Given the description of an element on the screen output the (x, y) to click on. 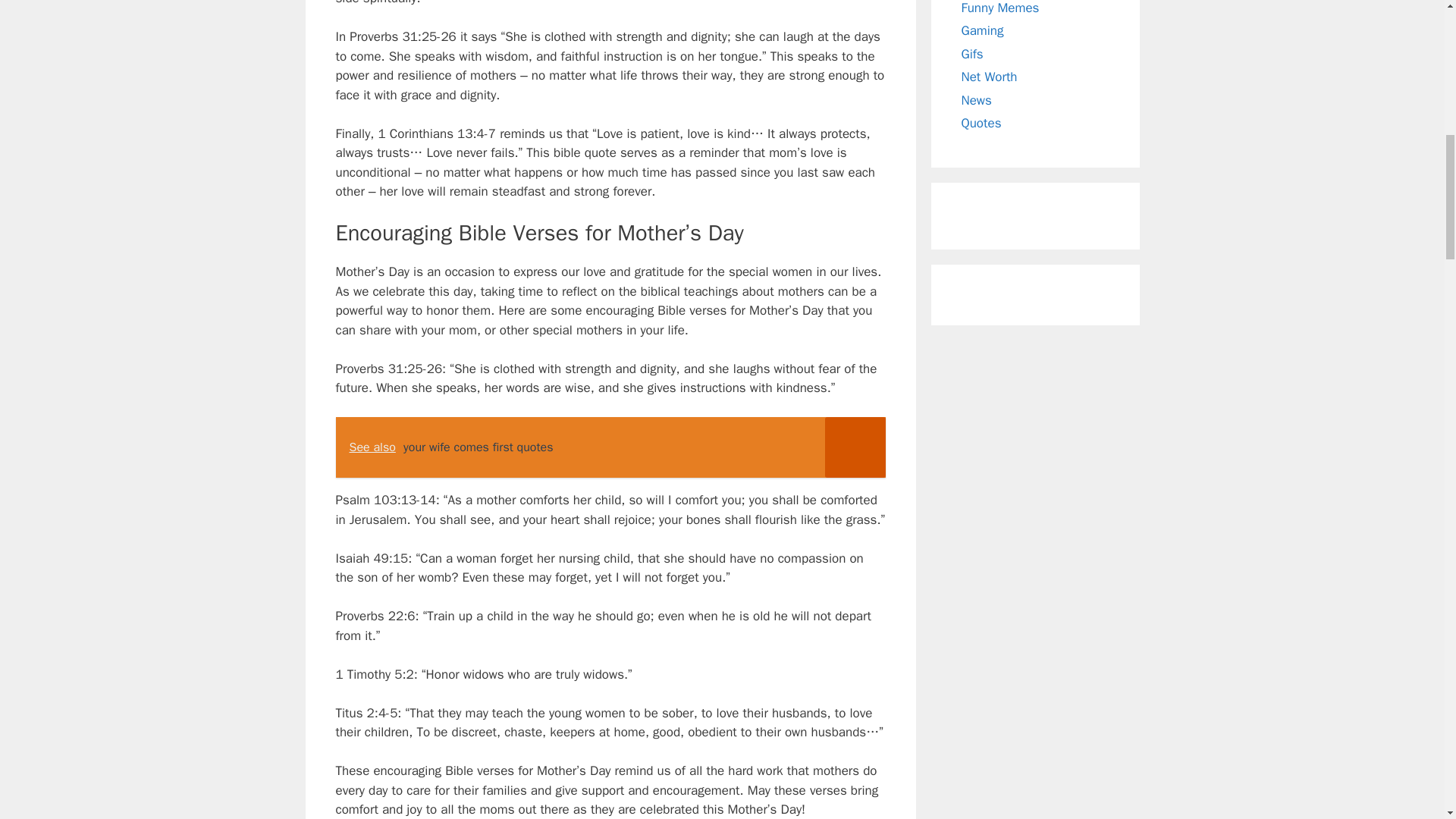
See also  your wife comes first quotes (609, 446)
